Given the description of an element on the screen output the (x, y) to click on. 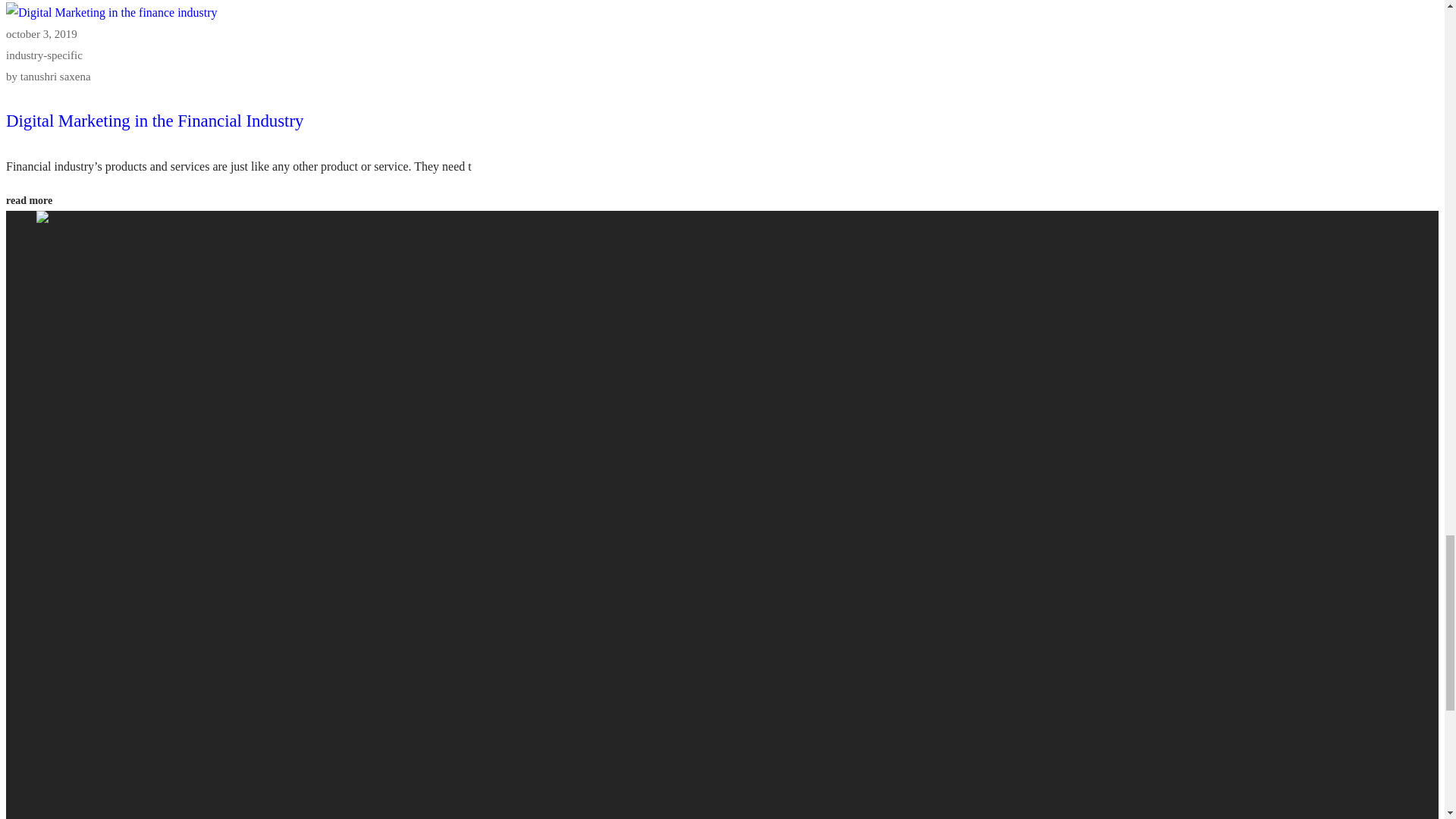
Digital Marketing in the Financial Industry (153, 120)
by tanushri saxena (47, 76)
read more (28, 200)
october 3, 2019 (41, 33)
industry-specific (43, 55)
